Given the description of an element on the screen output the (x, y) to click on. 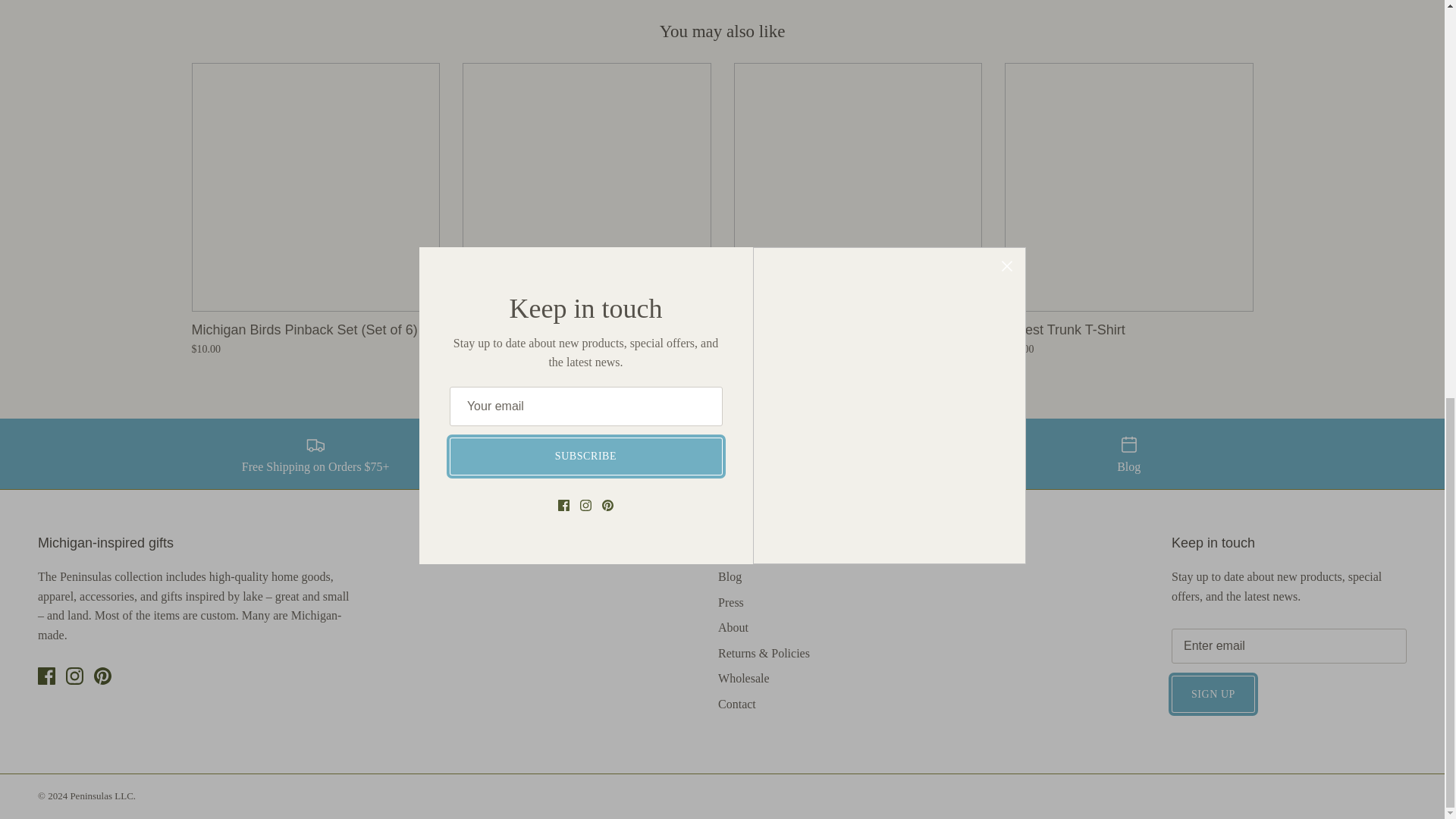
Instagram (73, 675)
Facebook (46, 675)
Pinterest (103, 675)
